Given the description of an element on the screen output the (x, y) to click on. 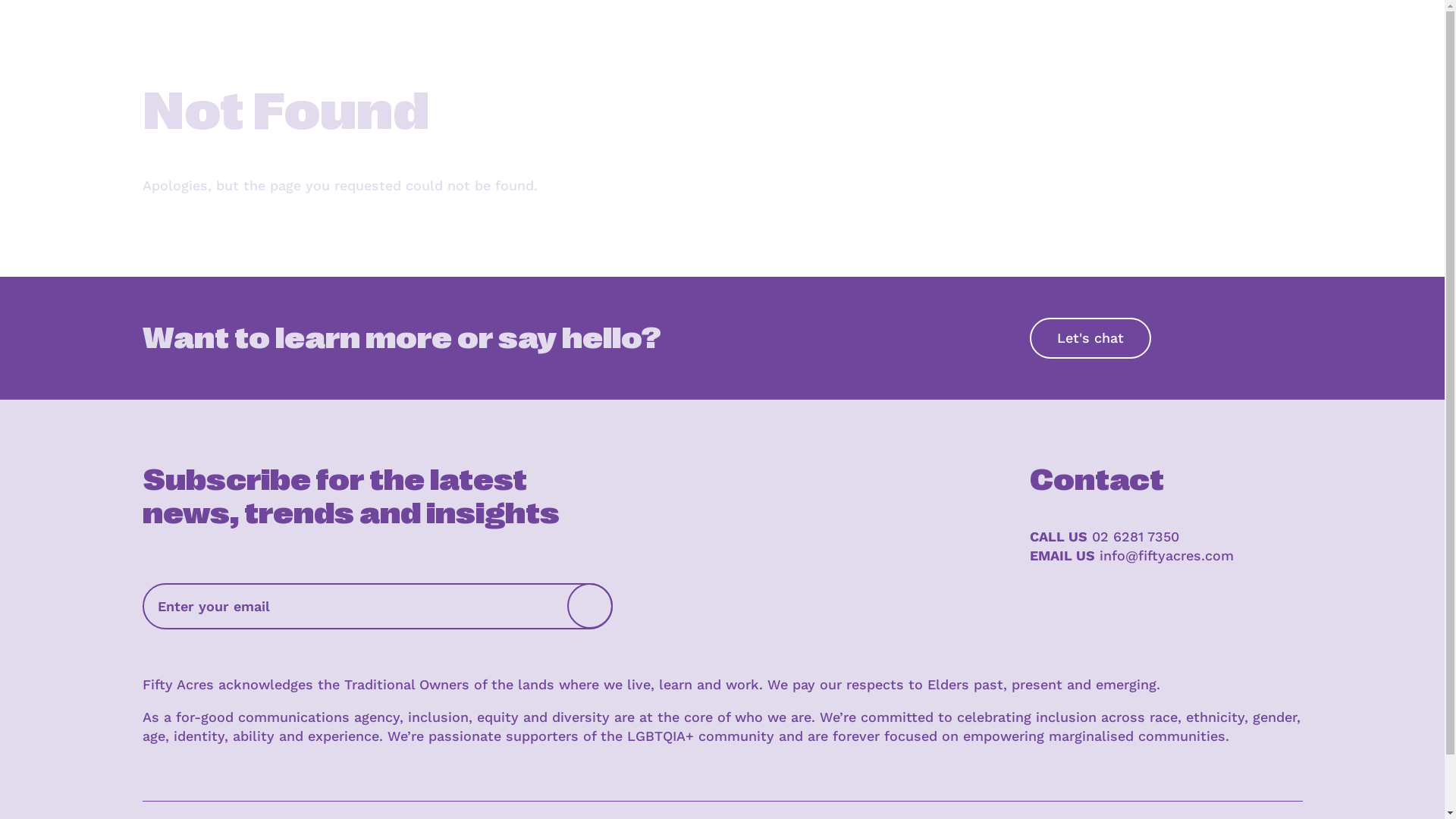
info@fiftyacres.com Element type: text (1166, 555)
02 6281 7350 Element type: text (1135, 536)
Fifty Acres Element type: text (180, 55)
Let's chat Element type: text (1090, 337)
